Given the description of an element on the screen output the (x, y) to click on. 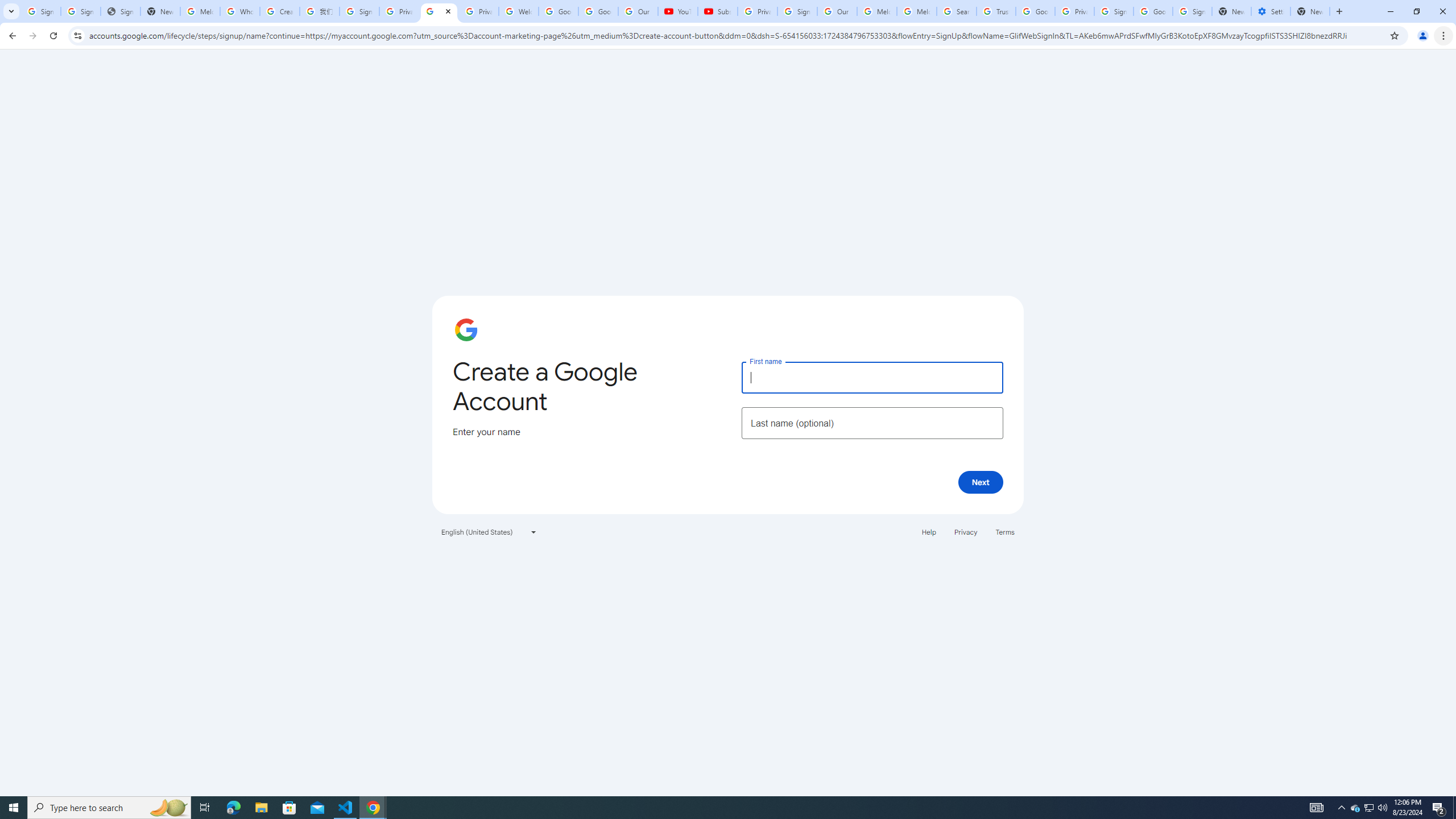
Who is my administrator? - Google Account Help (239, 11)
Settings - Addresses and more (1270, 11)
Google Cybersecurity Innovations - Google Safety Center (1152, 11)
Terms (1005, 531)
First name (871, 376)
Sign in - Google Accounts (796, 11)
Privacy (965, 531)
